Given the description of an element on the screen output the (x, y) to click on. 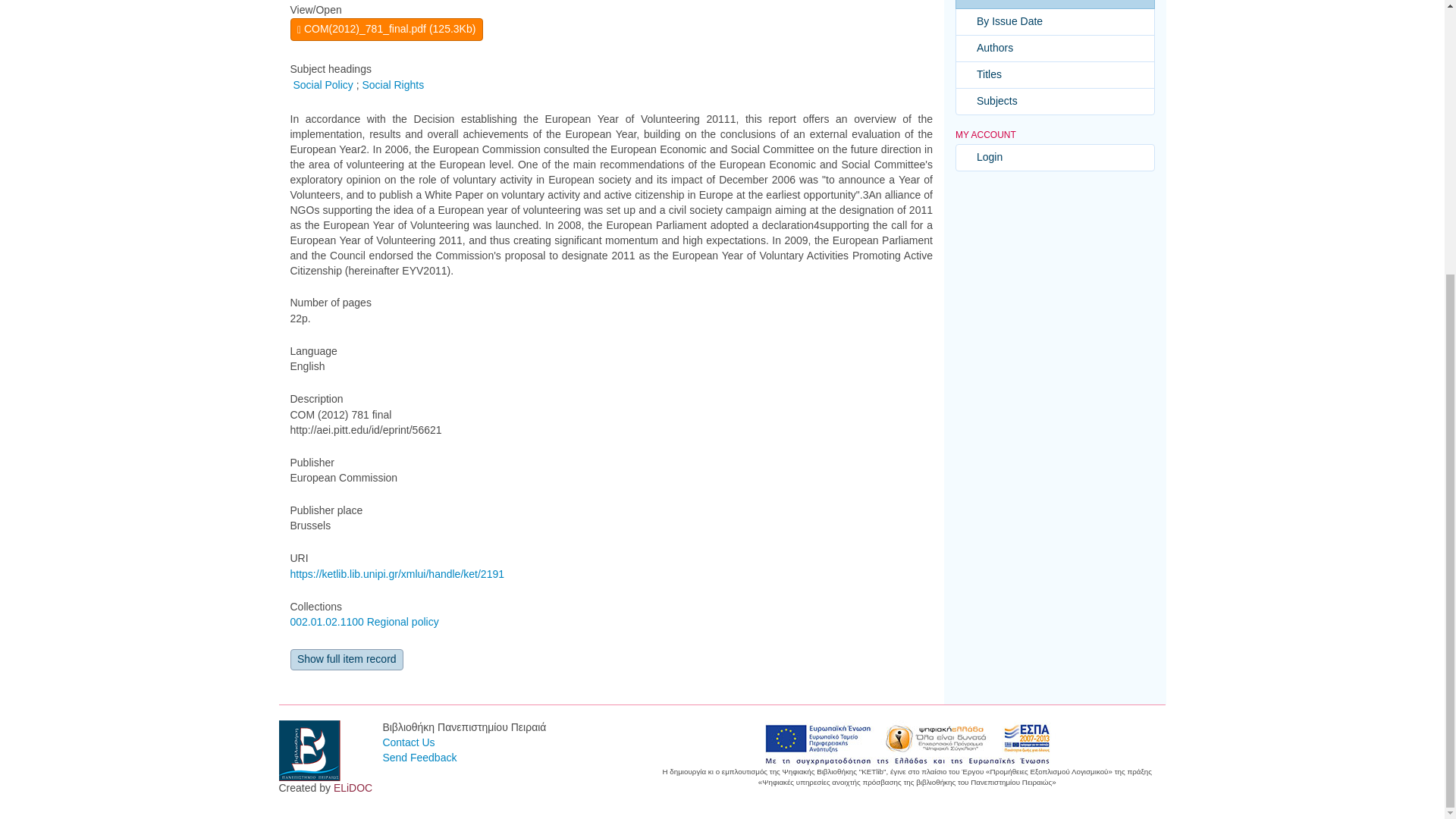
Social Policy (322, 84)
002.01.02.1100 Regional policy (363, 621)
Show full item record (346, 659)
Social Rights (392, 84)
